Given the description of an element on the screen output the (x, y) to click on. 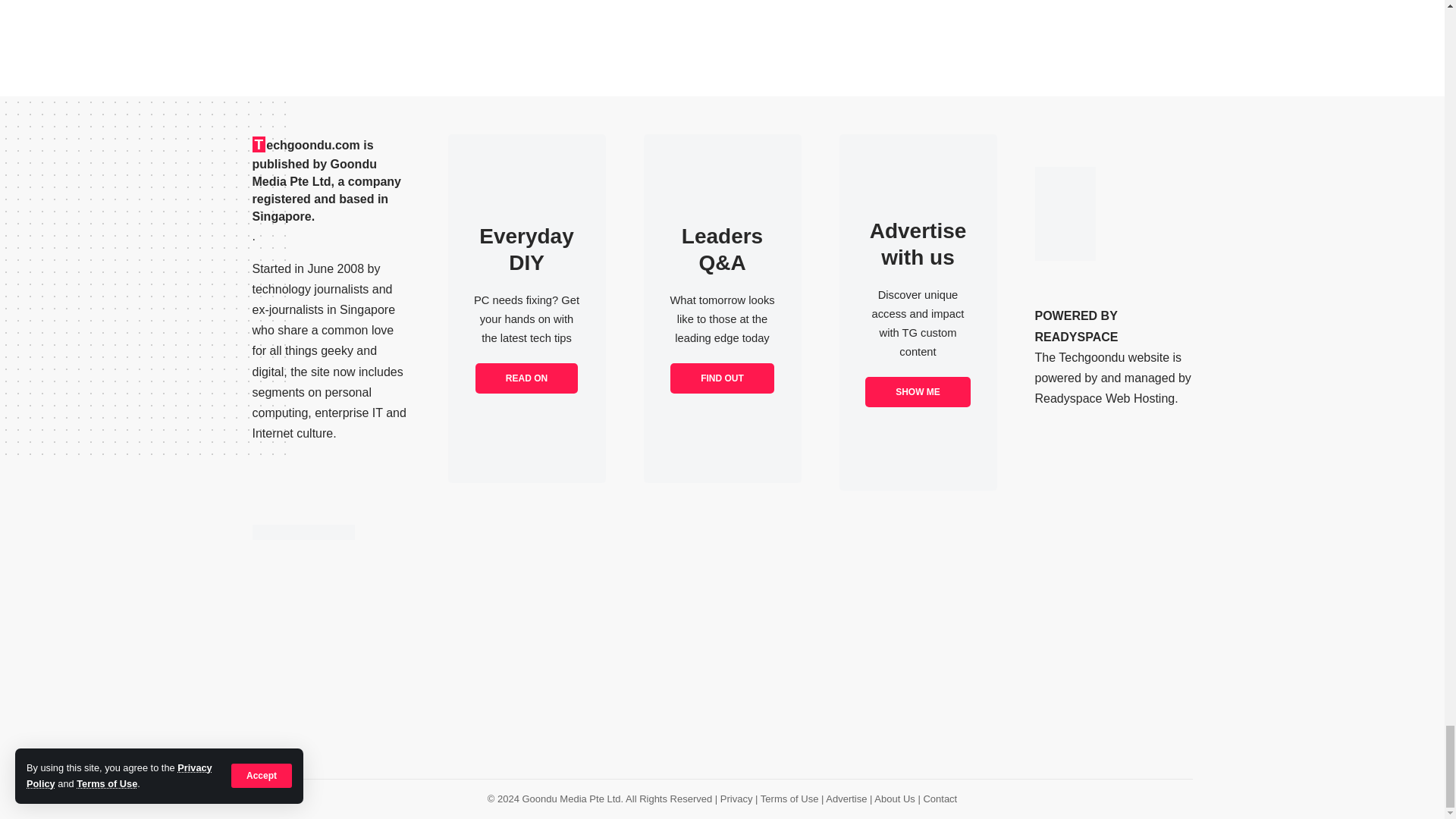
Techgoondu (302, 531)
